Given the description of an element on the screen output the (x, y) to click on. 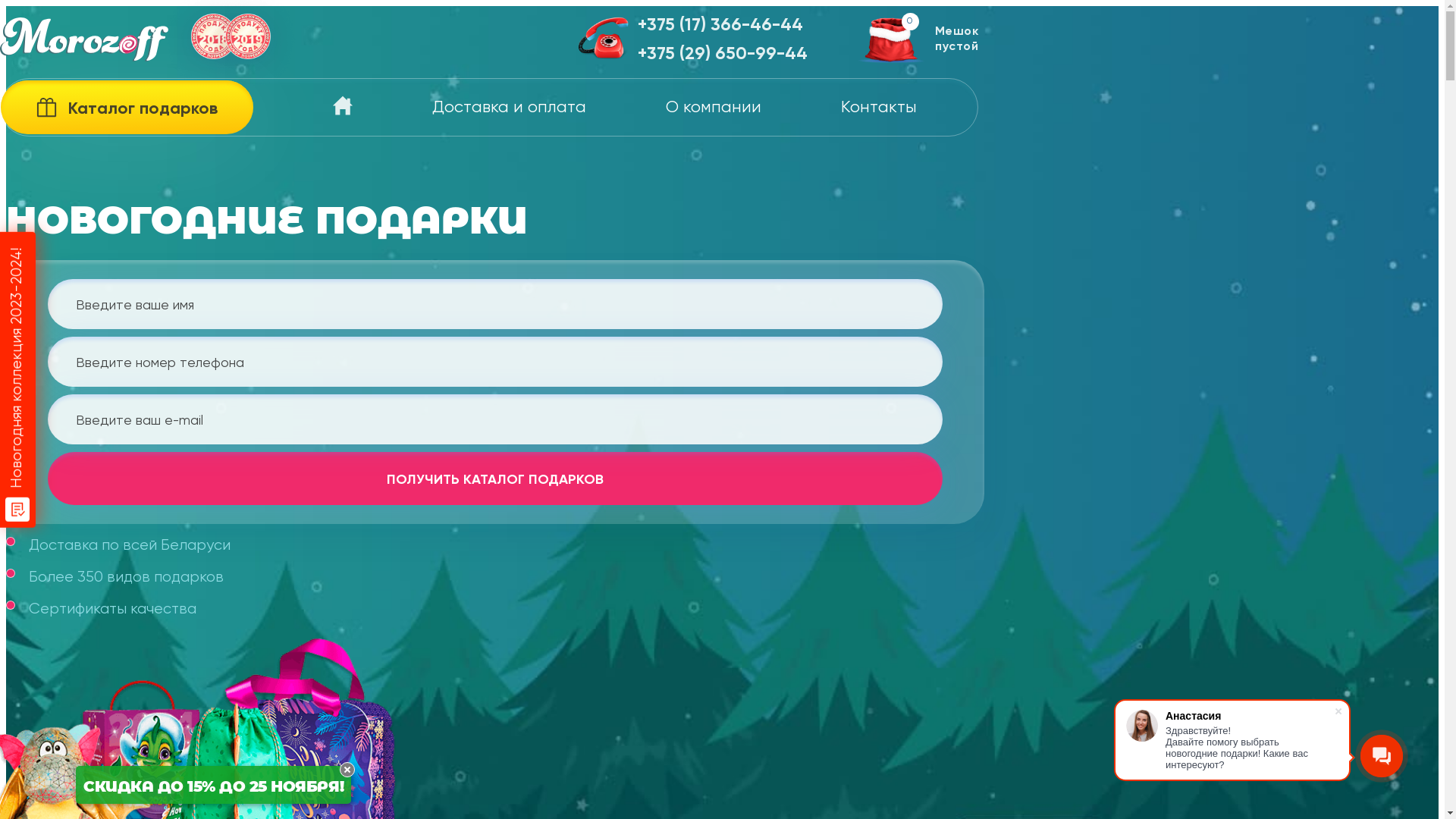
+375 (17) 366-46-44 Element type: text (722, 25)
+375 (29) 650-99-44 Element type: text (722, 53)
